Given the description of an element on the screen output the (x, y) to click on. 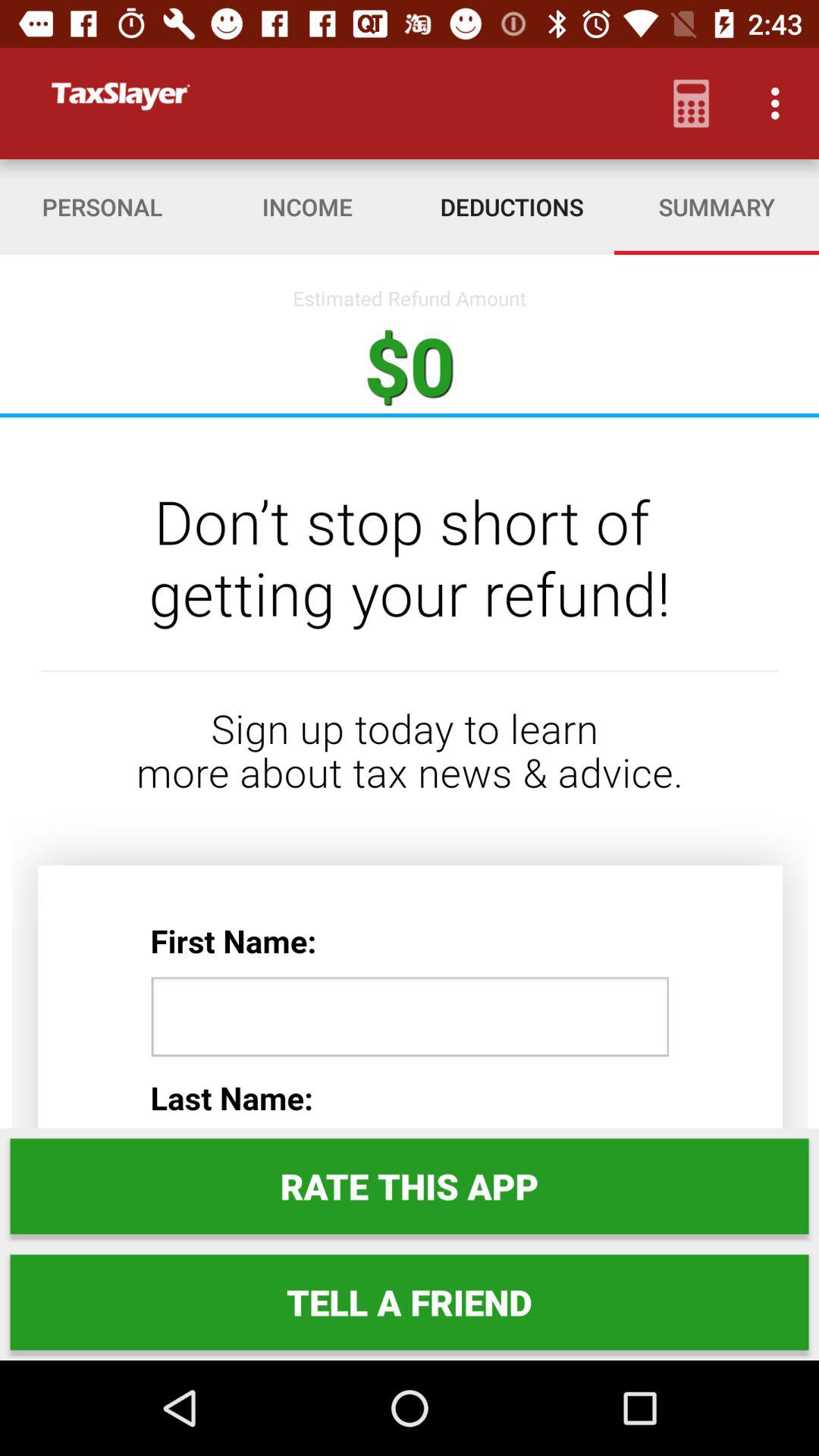
press the icon above the summary item (779, 103)
